Given the description of an element on the screen output the (x, y) to click on. 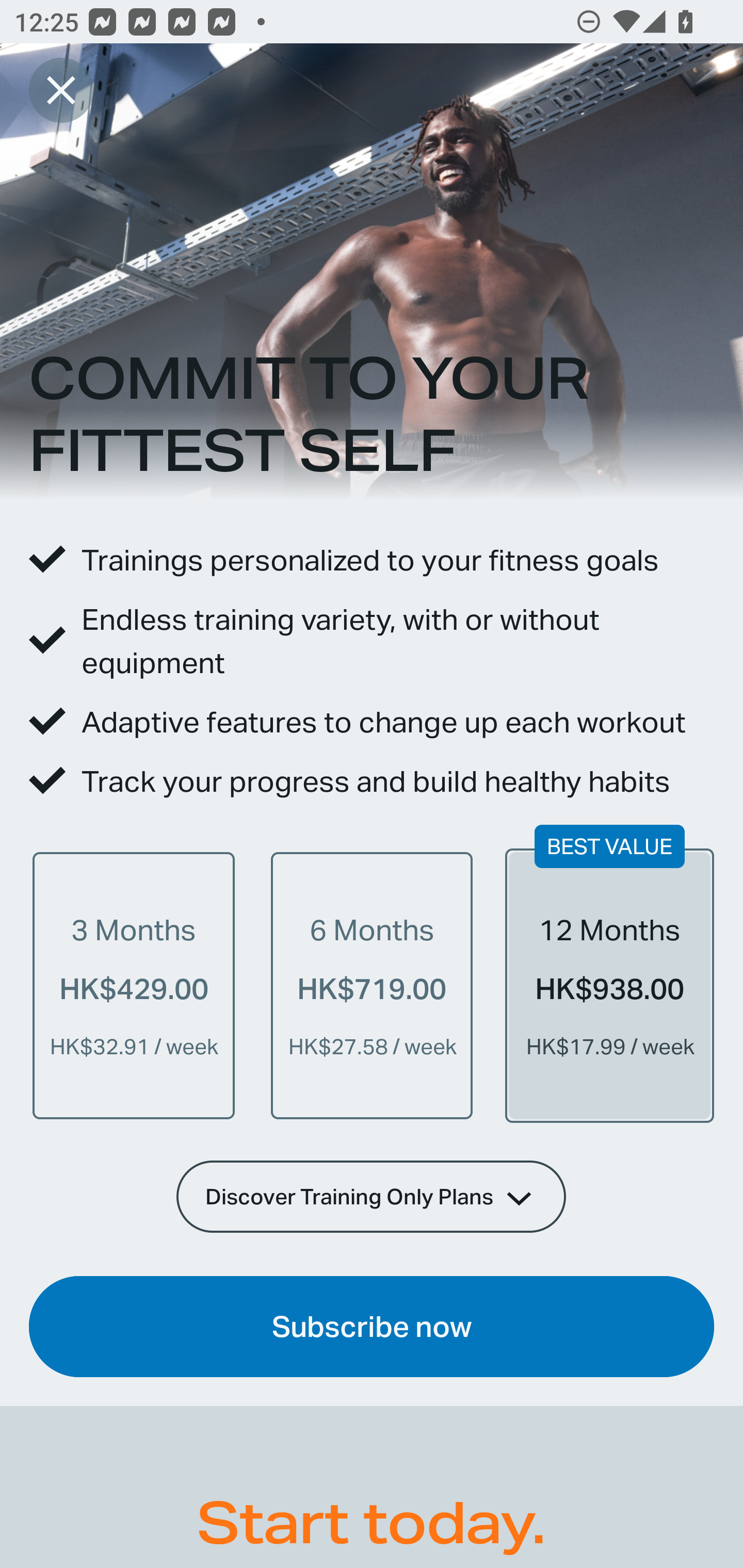
Close (60, 90)
3 Months HK$429.00 HK$32.91 / week (133, 985)
6 Months HK$719.00 HK$27.58 / week (371, 985)
12 Months HK$938.00 HK$17.99 / week (609, 985)
Discover Training Only Plans (371, 1196)
Subscribe now (371, 1326)
